Given the description of an element on the screen output the (x, y) to click on. 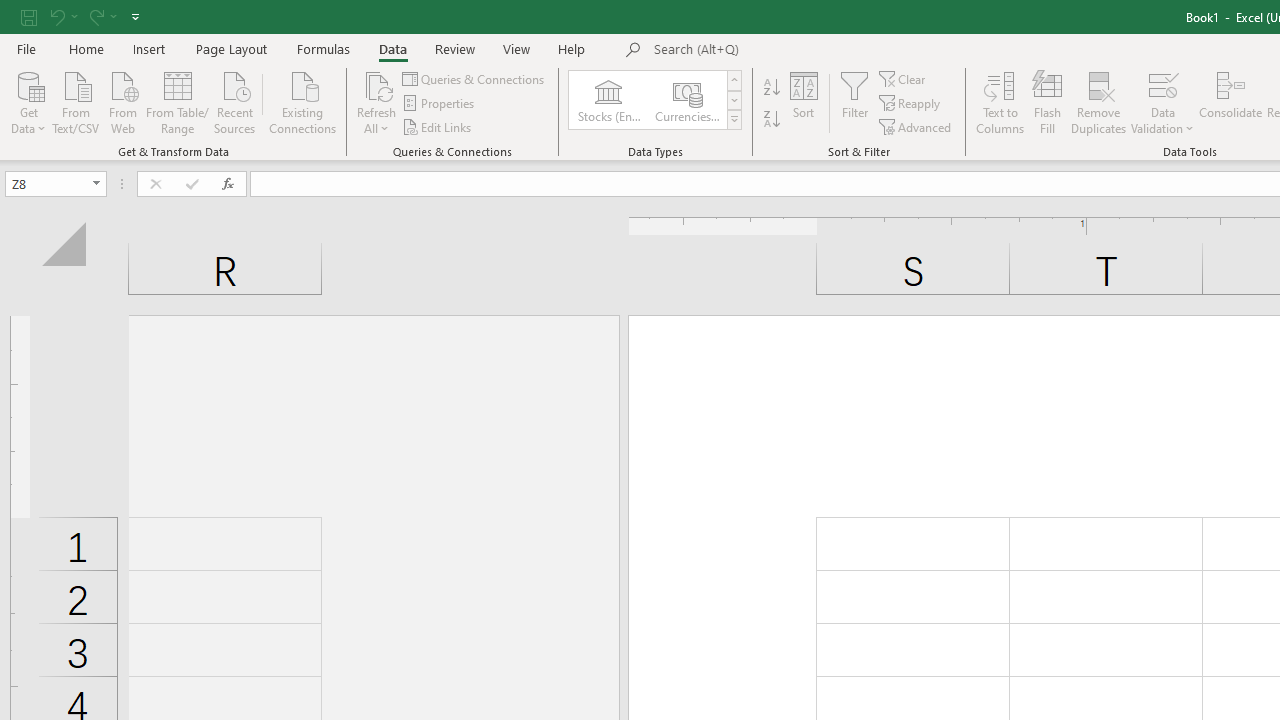
Consolidate... (1230, 102)
